Given the description of an element on the screen output the (x, y) to click on. 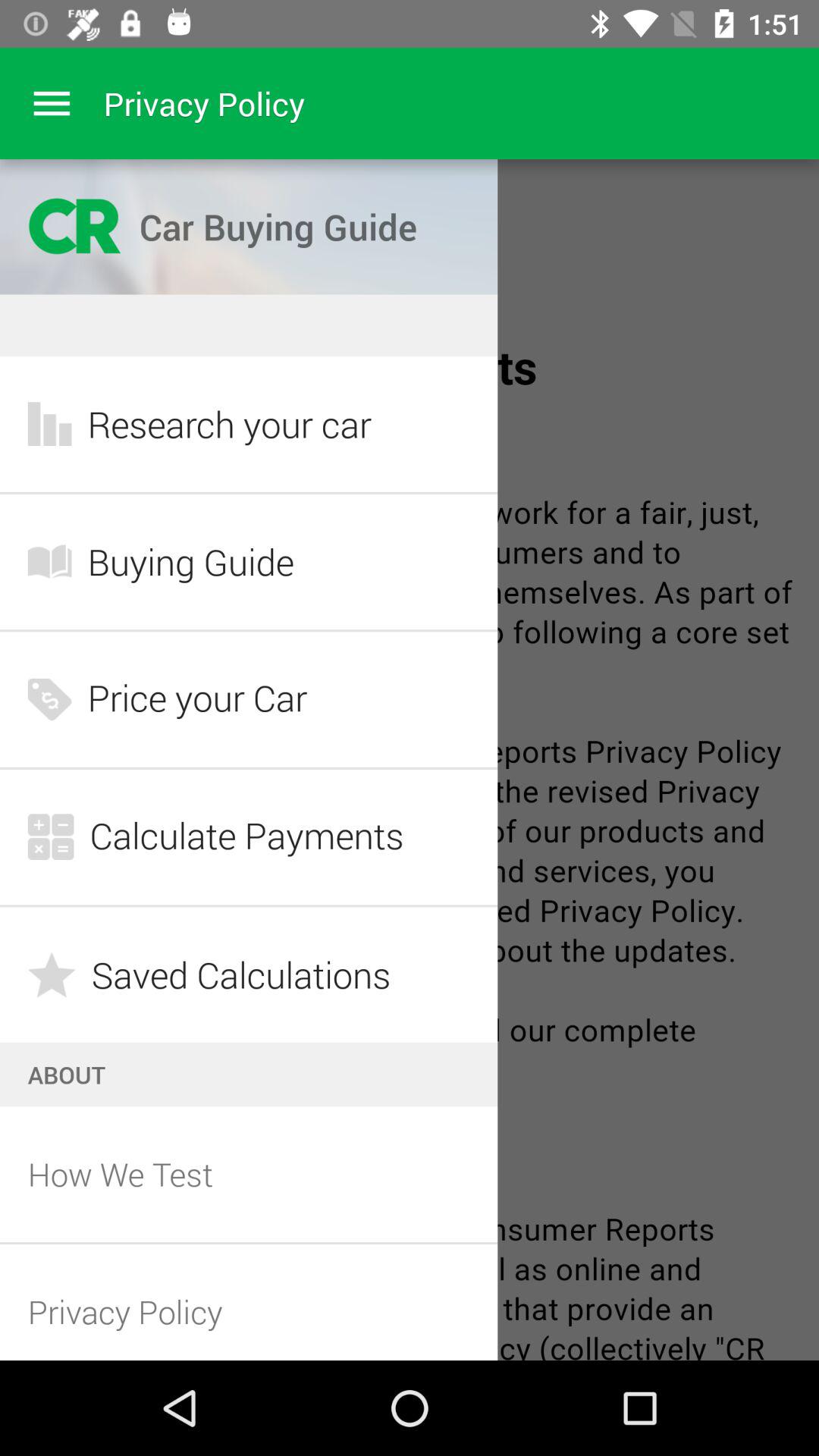
go to menu options (51, 103)
